Given the description of an element on the screen output the (x, y) to click on. 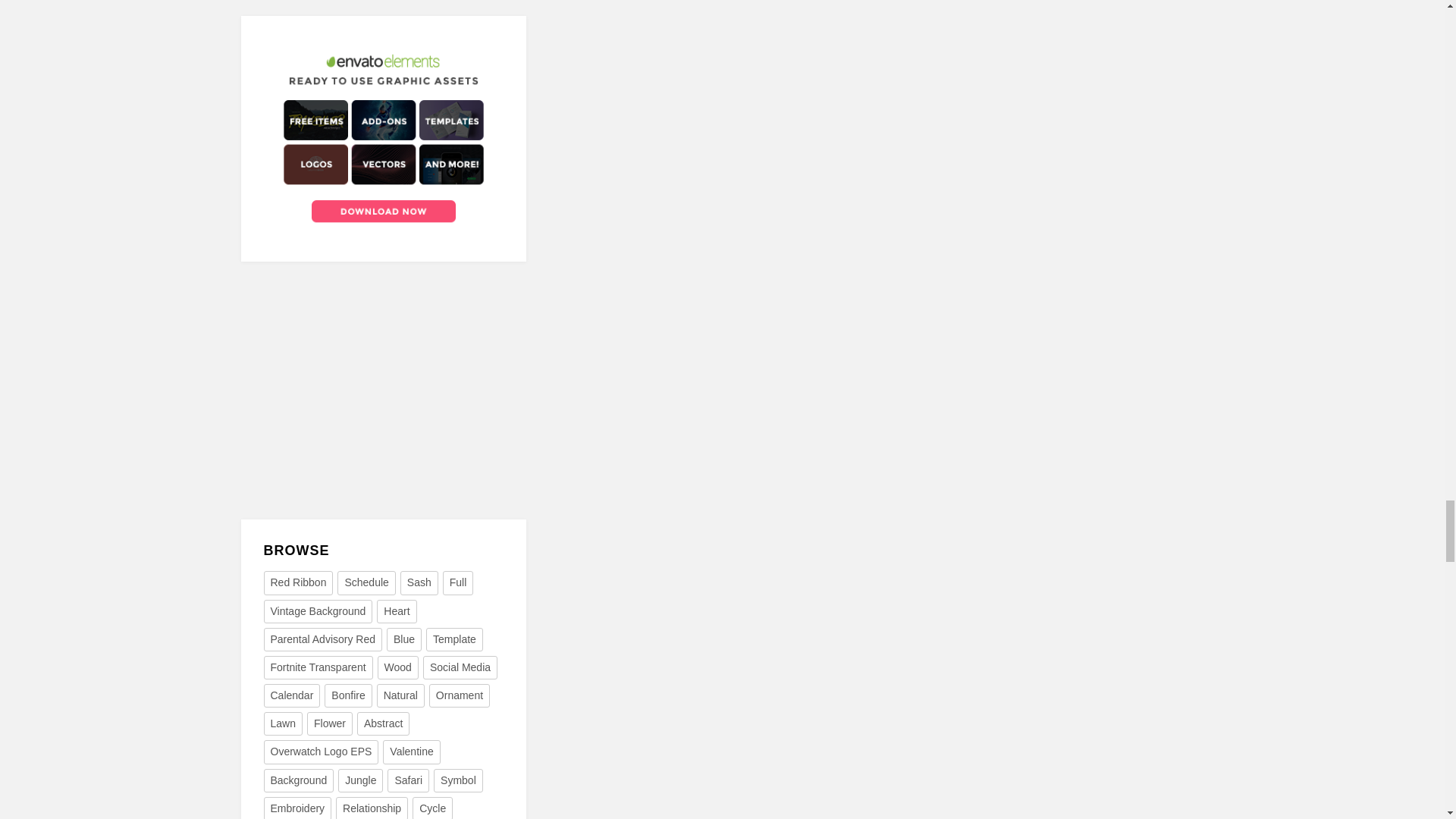
Schedule (365, 582)
Sash (419, 582)
Red Ribbon (298, 582)
